Given the description of an element on the screen output the (x, y) to click on. 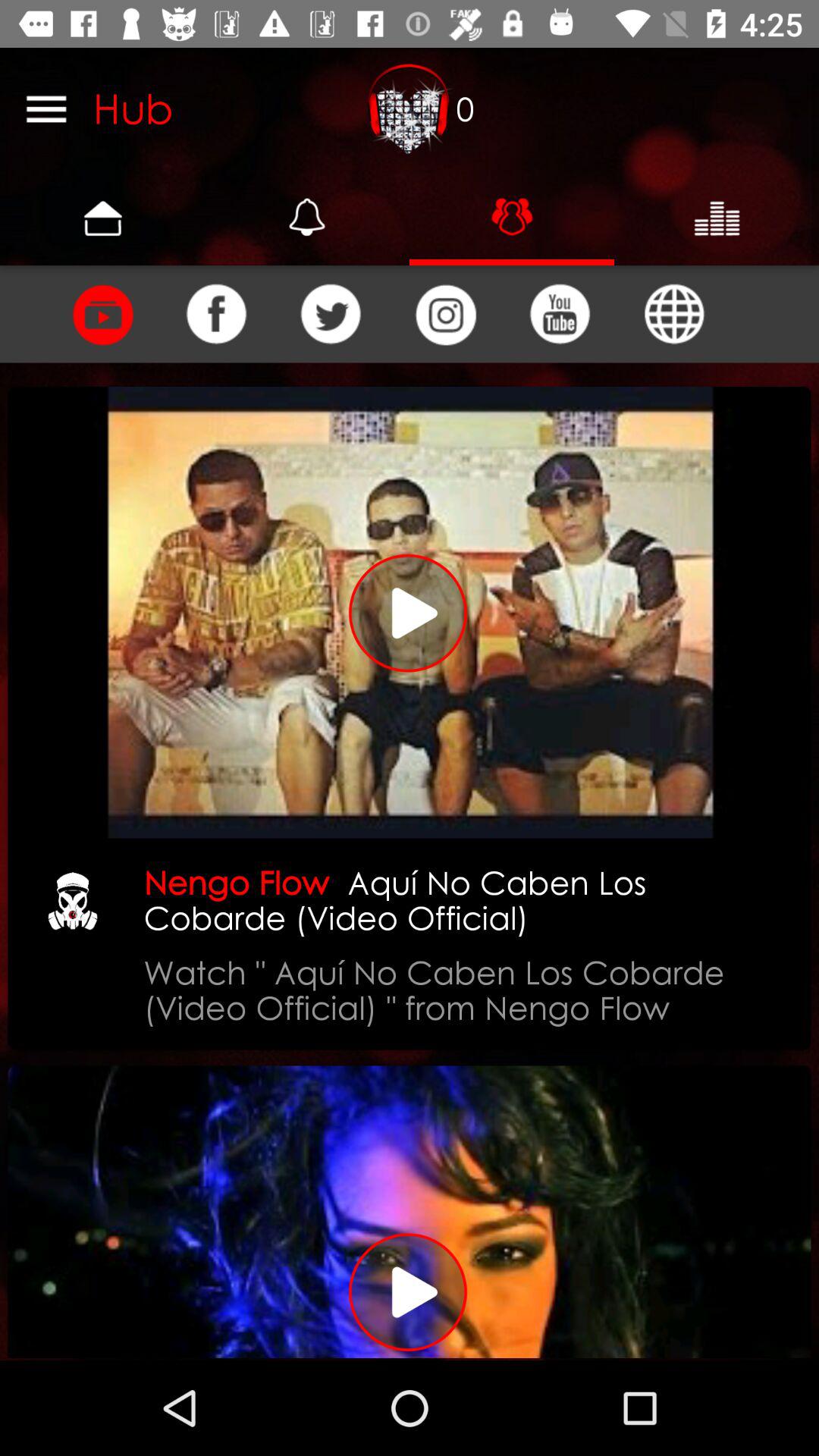
sigue tu ritmo (409, 1211)
